Given the description of an element on the screen output the (x, y) to click on. 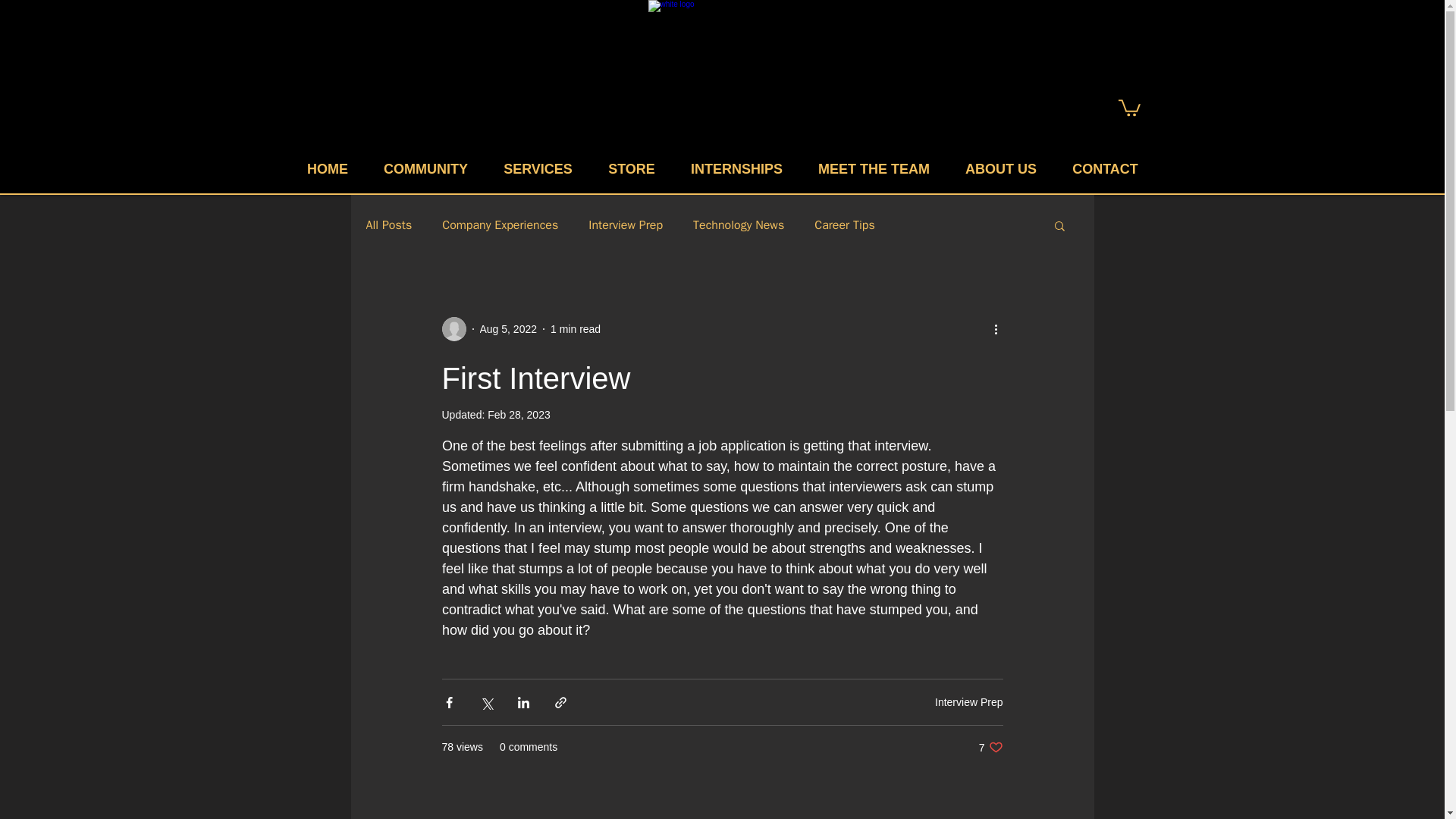
All Posts (388, 225)
SERVICES (536, 168)
Aug 5, 2022 (508, 328)
Wright's Resumes And Connections (720, 76)
Interview Prep (968, 702)
MEET THE TEAM (873, 168)
Career Tips (844, 225)
INTERNSHIPS (736, 168)
Interview Prep (625, 225)
Technology News (738, 225)
